Given the description of an element on the screen output the (x, y) to click on. 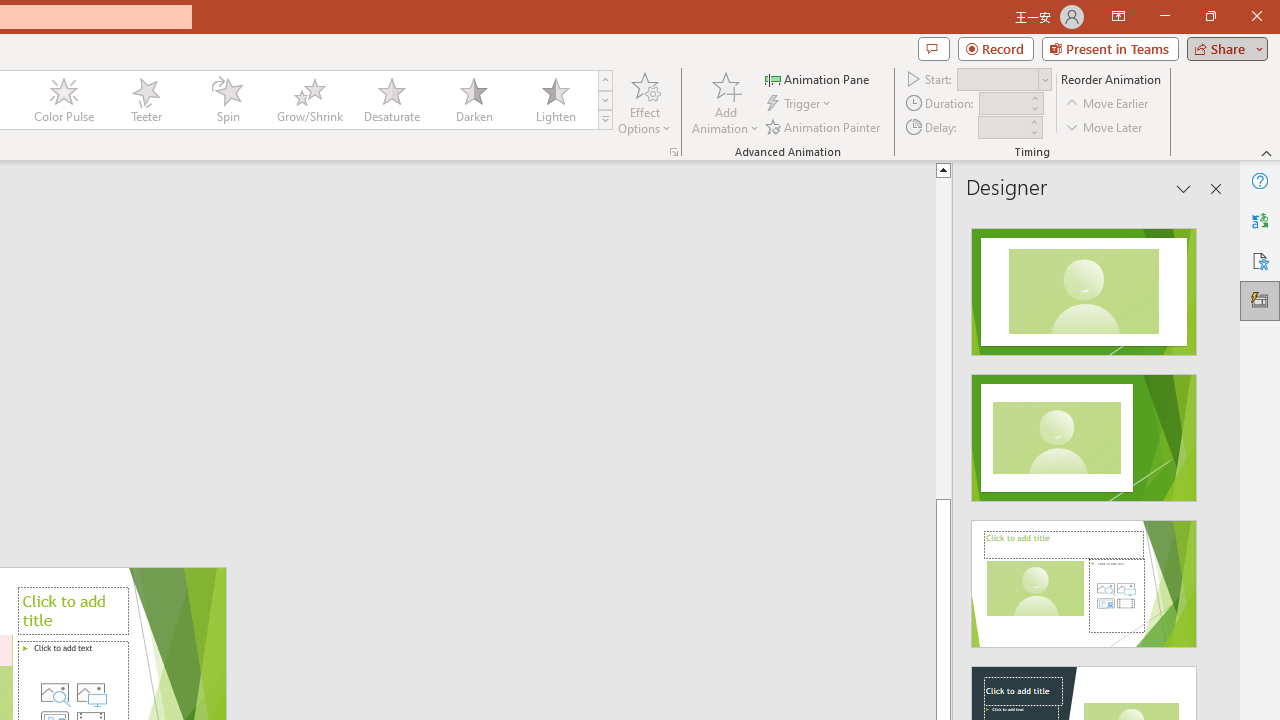
Lighten (555, 100)
Move Earlier (1107, 103)
Darken (473, 100)
Move Later (1105, 126)
Animation Pane (818, 78)
Spin (227, 100)
